Given the description of an element on the screen output the (x, y) to click on. 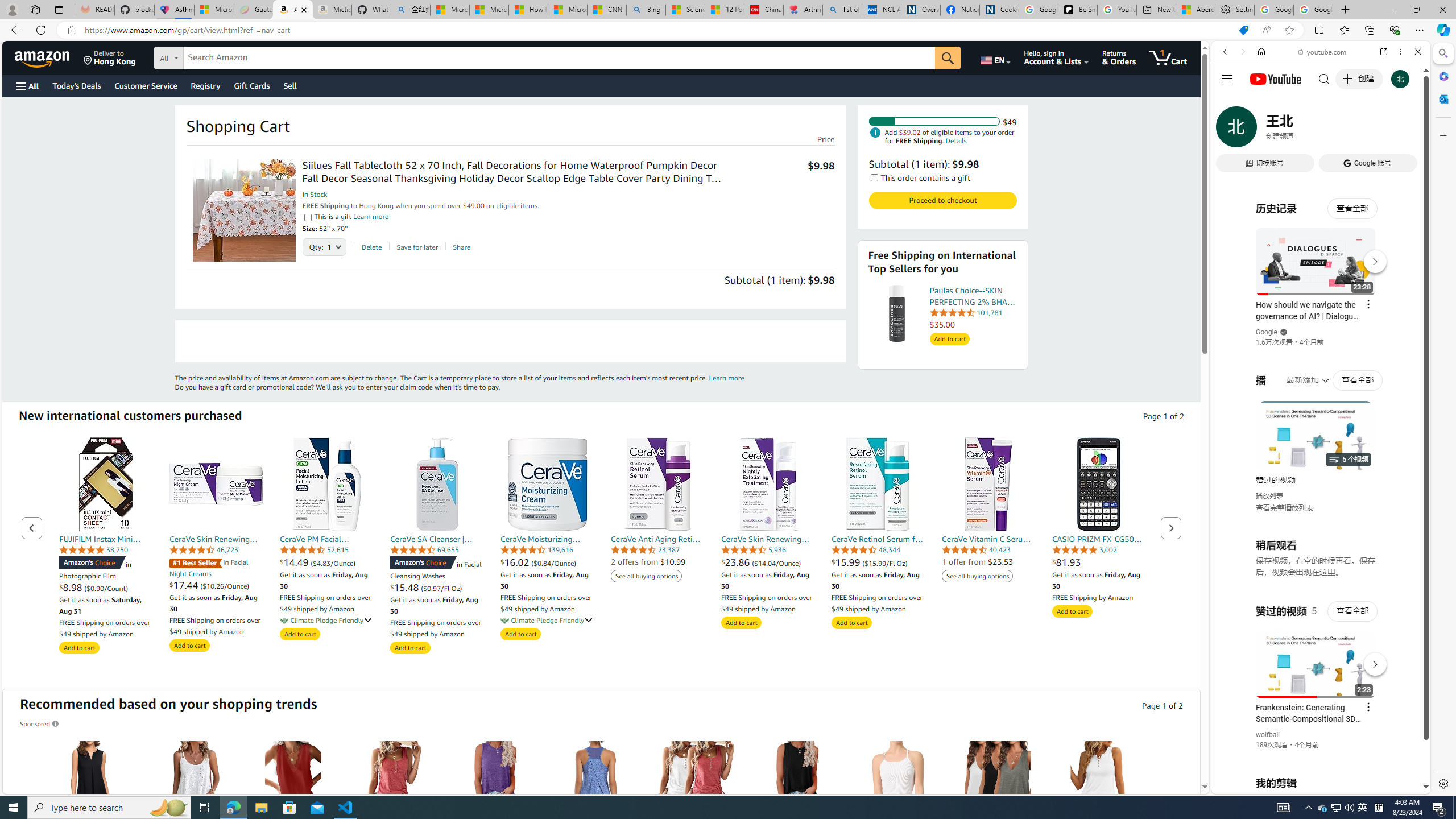
Leave feedback on Sponsored ad (39, 723)
($15.99/Fl Oz) (884, 562)
Cookies (999, 9)
Previous page (31, 527)
